Given the description of an element on the screen output the (x, y) to click on. 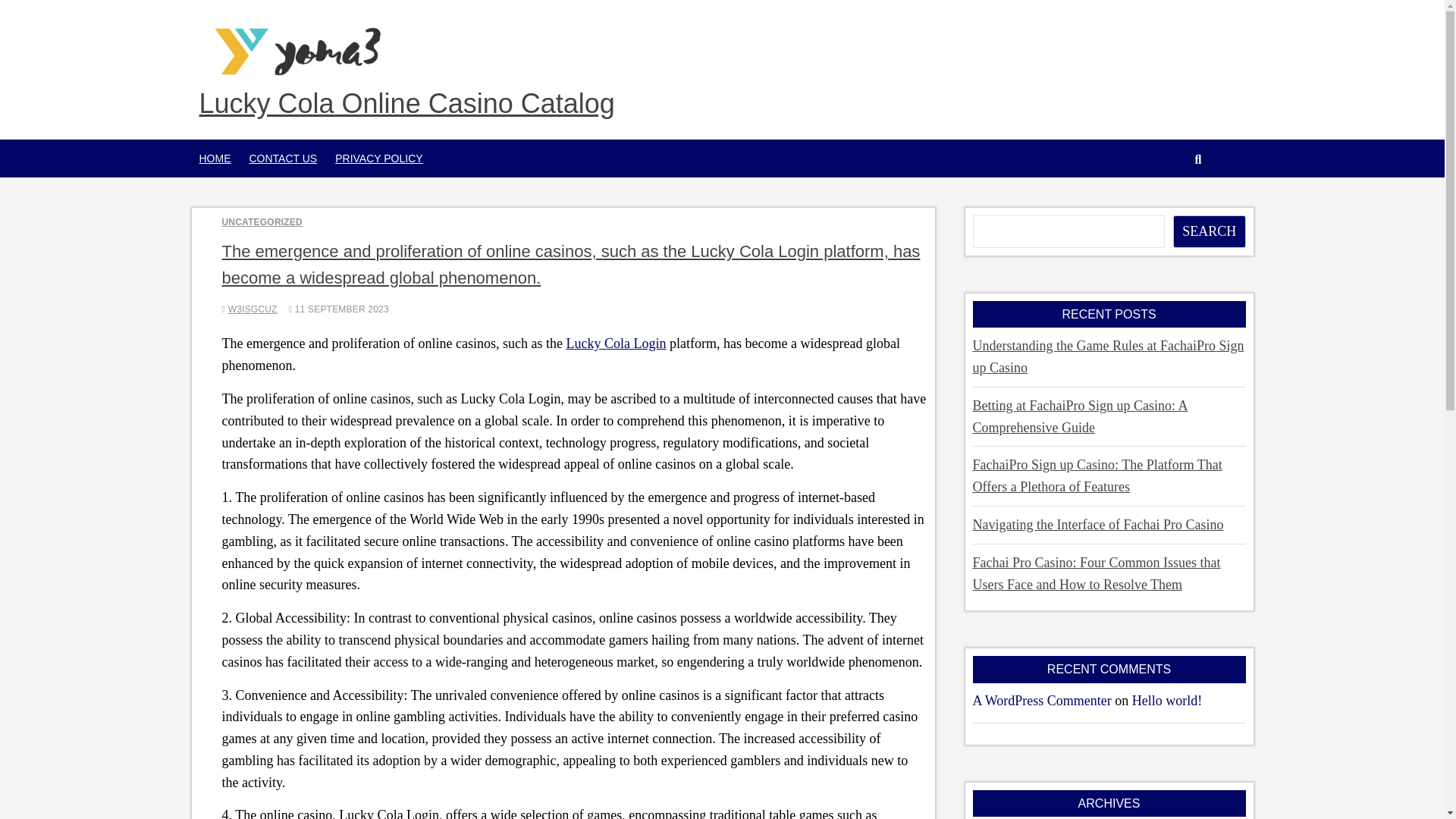
Hello world! (1167, 700)
Understanding the Game Rules at FachaiPro Sign up Casino (1107, 356)
CONTACT US (282, 158)
SEARCH (1209, 231)
Navigating the Interface of Fachai Pro Casino (1097, 524)
HOME (214, 158)
Lucky Cola Online Casino Catalog (406, 103)
